Given the description of an element on the screen output the (x, y) to click on. 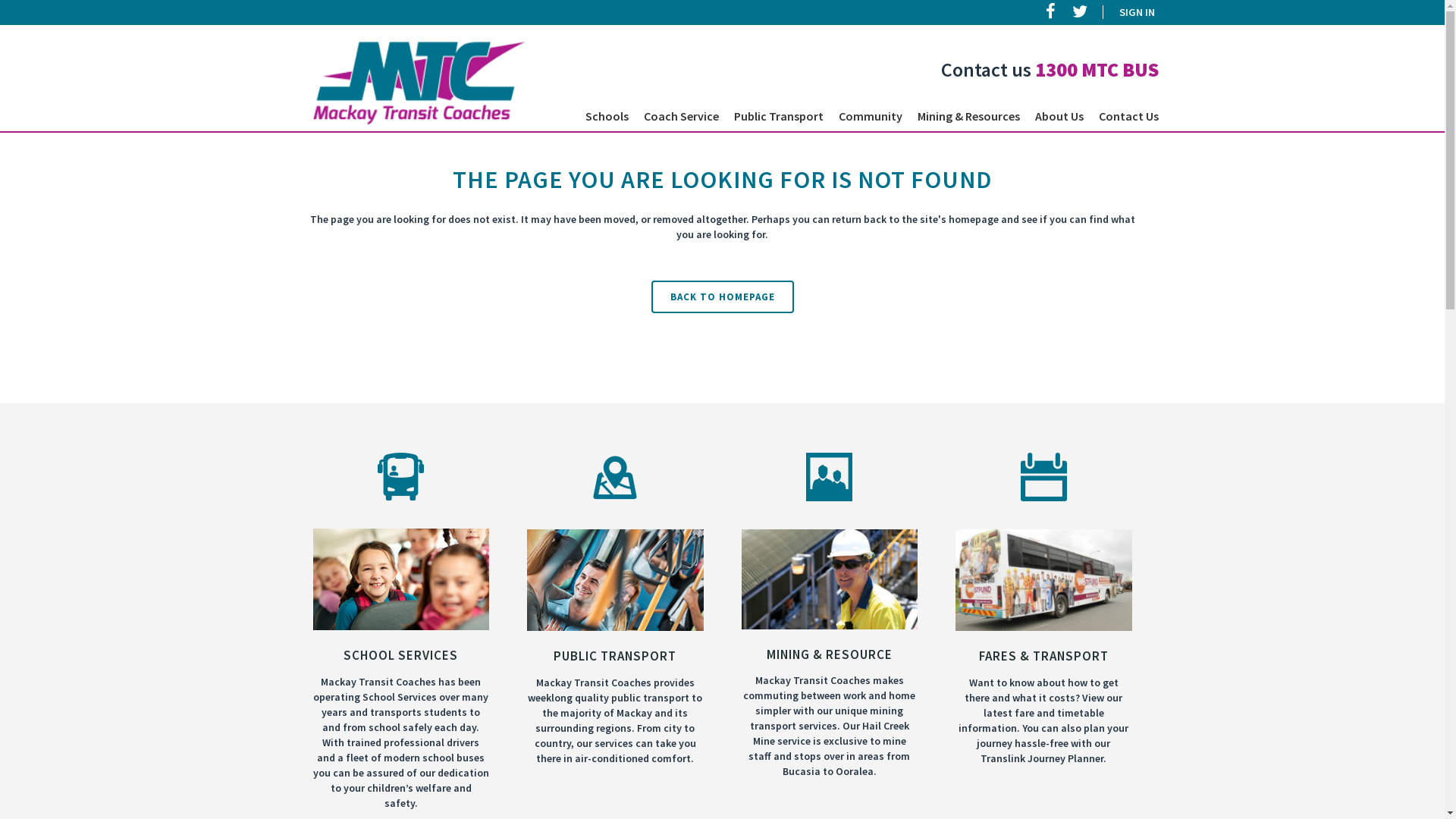
Public Transport Element type: text (778, 115)
Schools Element type: text (606, 115)
Coach Service Element type: text (680, 115)
About Us Element type: text (1058, 115)
BACK TO HOMEPAGE Element type: text (721, 296)
Contact Us Element type: text (1127, 115)
Mining & Resources Element type: text (968, 115)
  SIGN IN Element type: text (1128, 11)
Community Element type: text (870, 115)
